Given the description of an element on the screen output the (x, y) to click on. 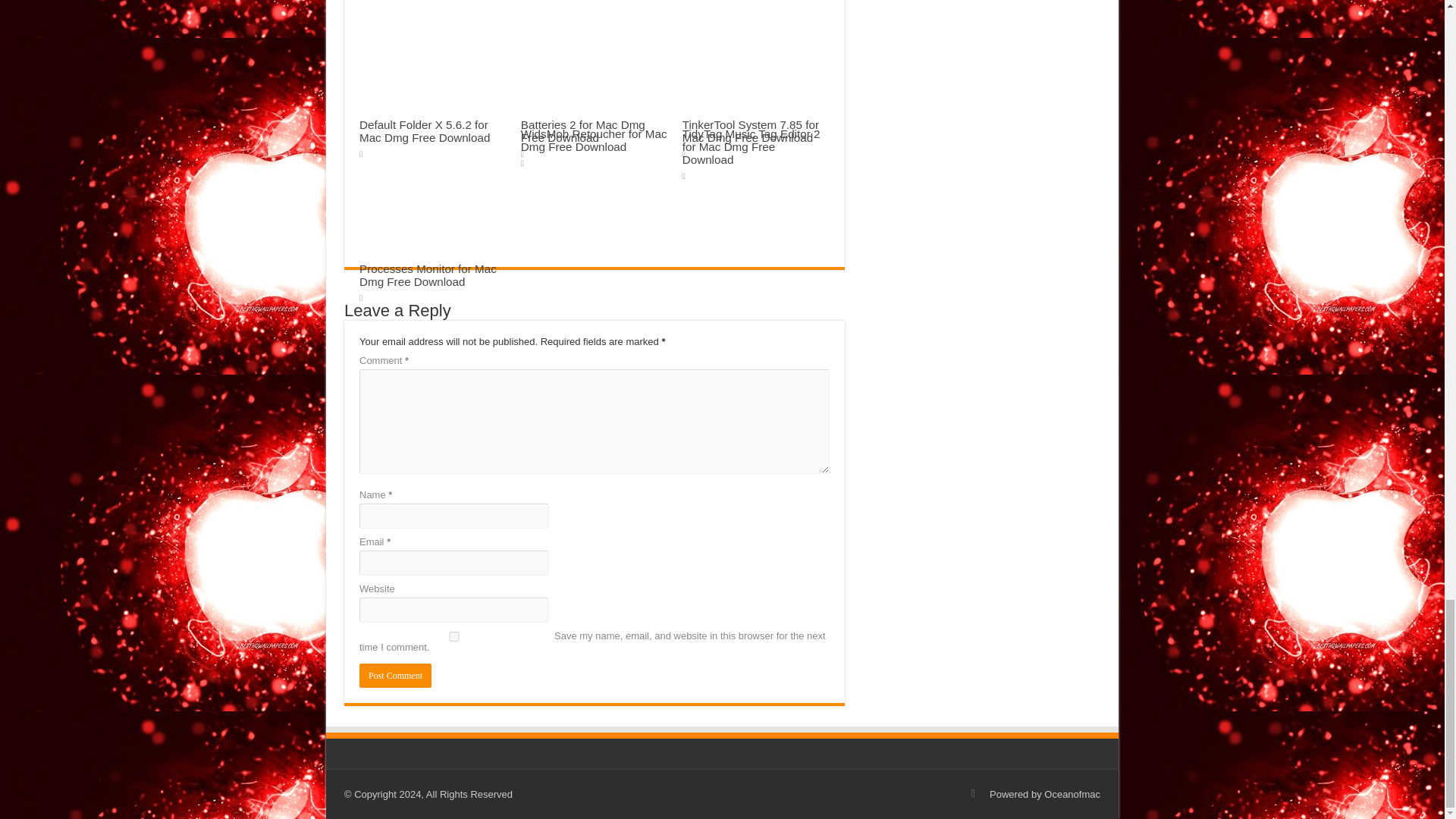
TinkerTool System 7.85 for Mac Dmg Free Download (750, 130)
Batteries 2 for Mac Dmg Free Download (583, 130)
Post Comment (394, 675)
Default Folder X 5.6.2 for Mac Dmg Free Download (424, 130)
yes (453, 636)
